Given the description of an element on the screen output the (x, y) to click on. 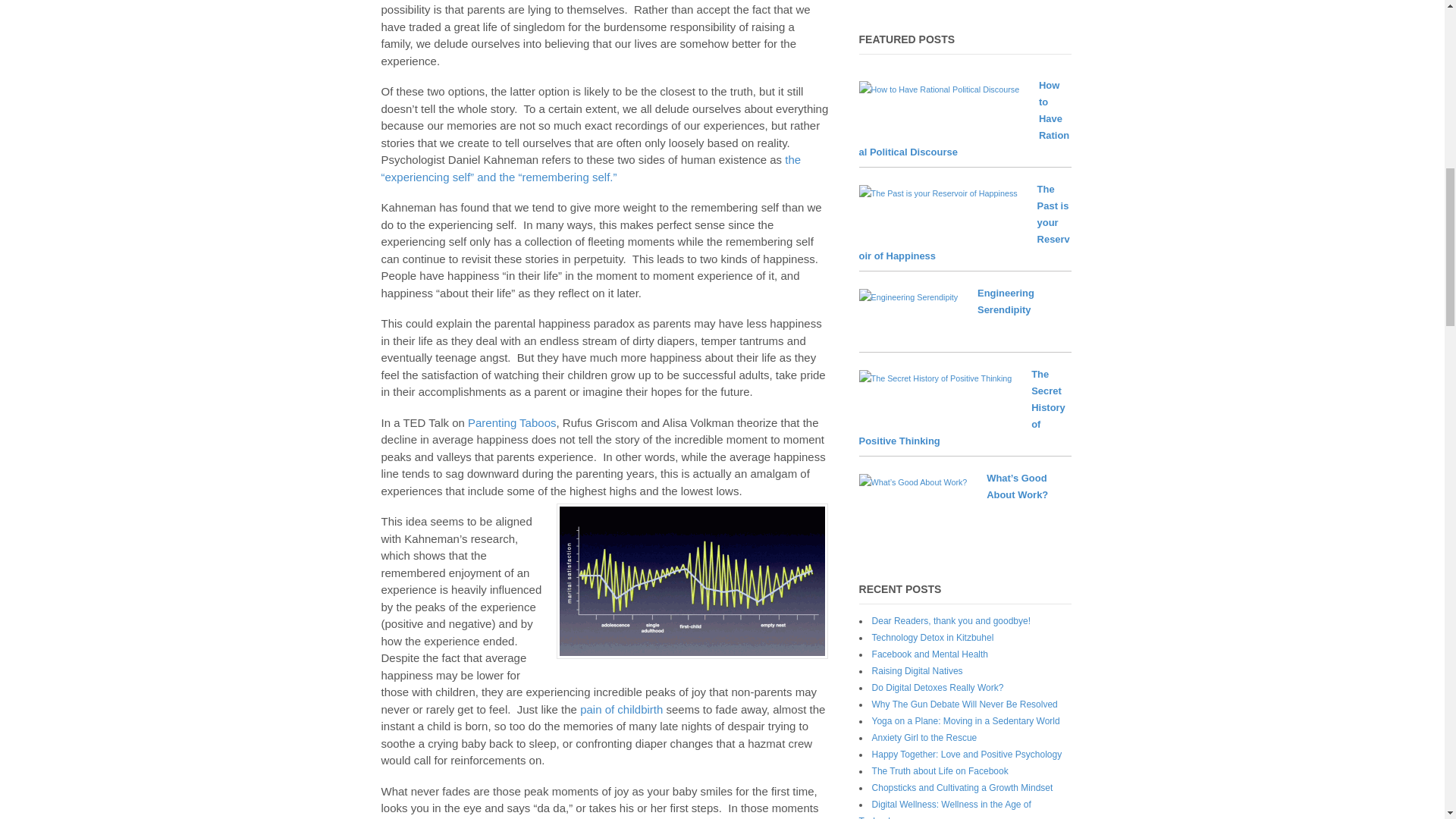
marital happiness with children (692, 581)
pain of childbirth (620, 708)
Parenting Taboos (511, 422)
